Given the description of an element on the screen output the (x, y) to click on. 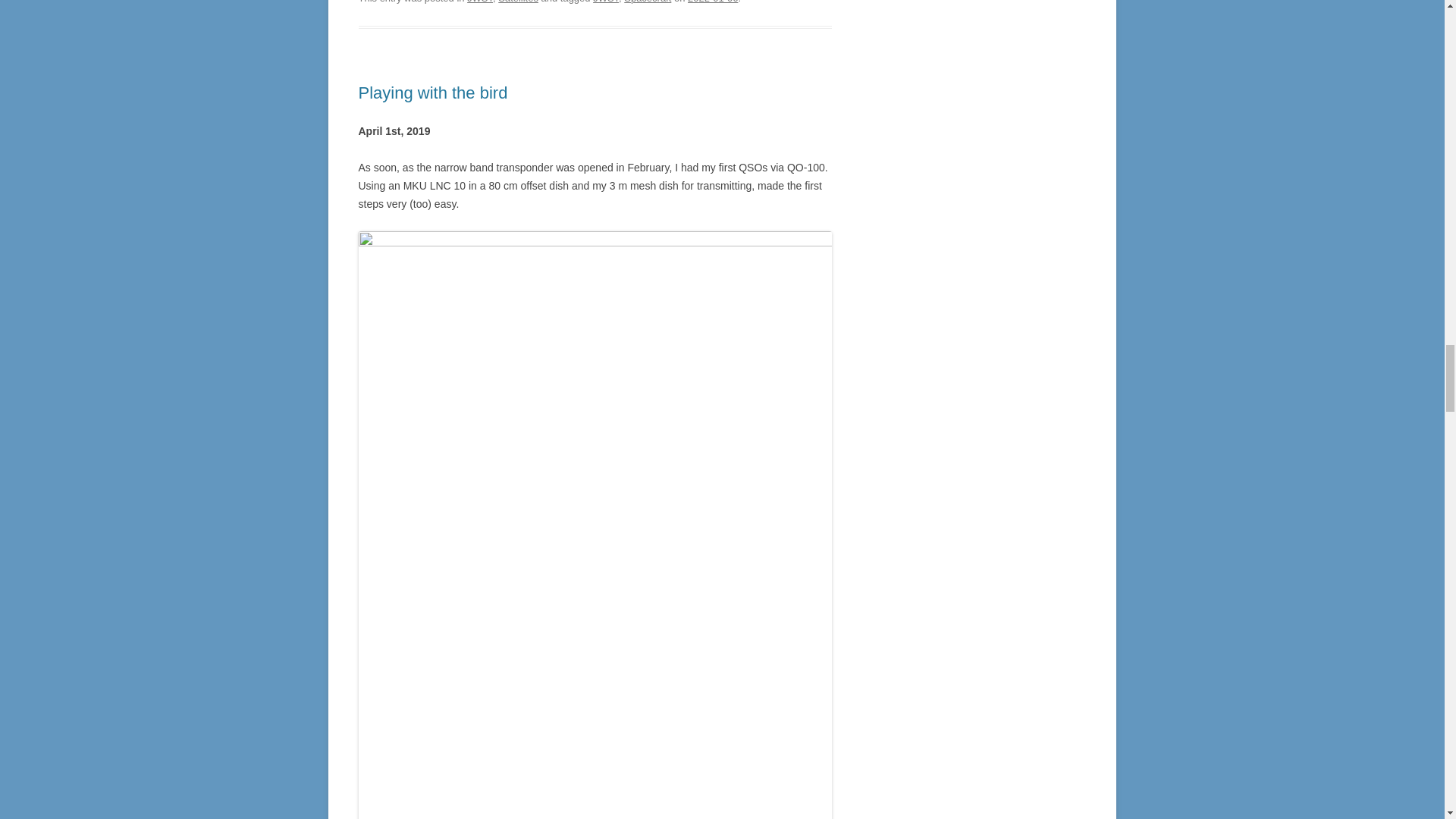
15:38 (712, 2)
